Given the description of an element on the screen output the (x, y) to click on. 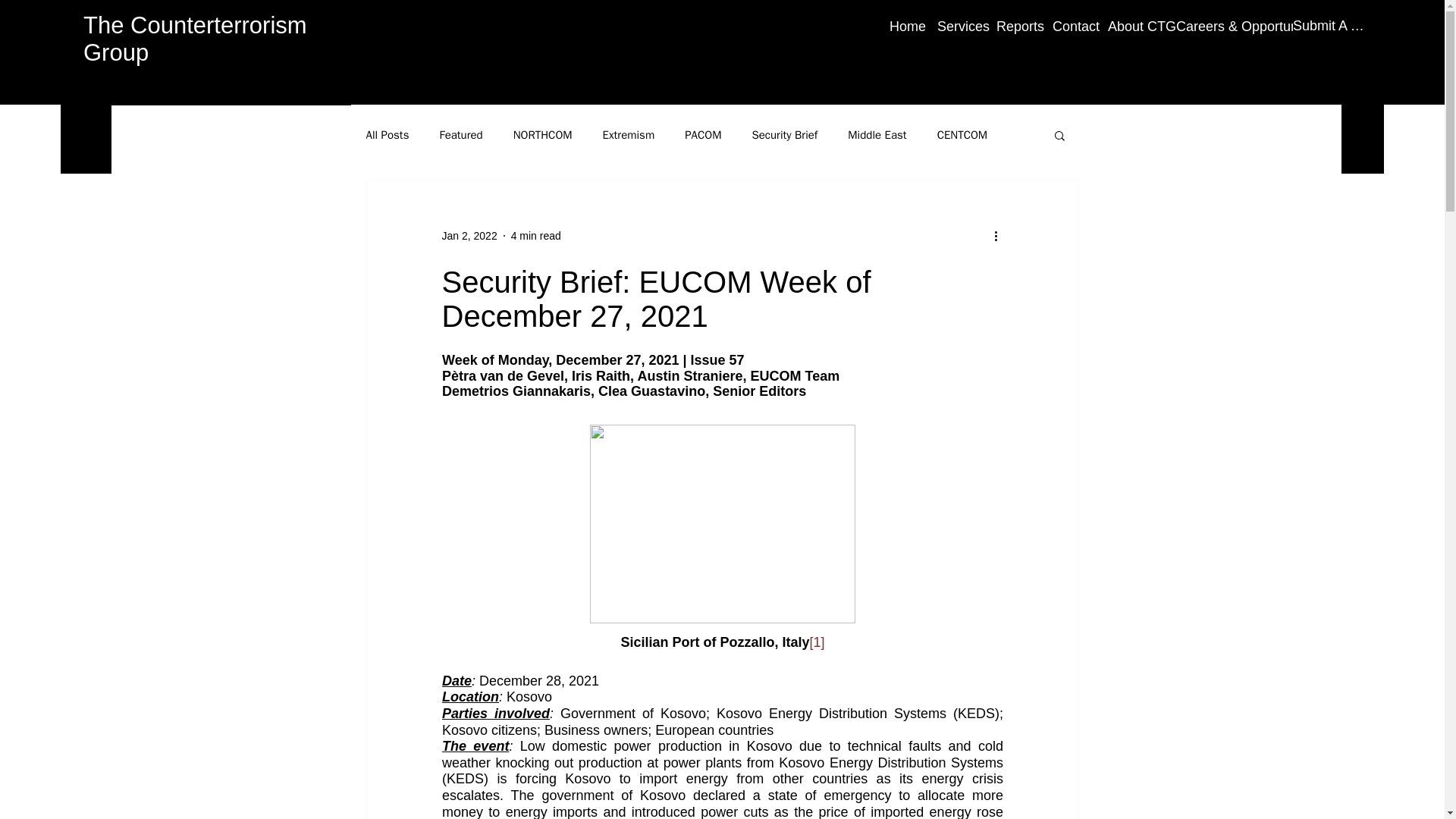
CENTCOM (962, 134)
Home (901, 26)
PACOM (702, 134)
About CTG (1130, 26)
Submit A Tip (1330, 26)
Services (955, 26)
All Posts (387, 134)
NORTHCOM (542, 134)
Security Brief (783, 134)
Jan 2, 2022 (468, 234)
